Given the description of an element on the screen output the (x, y) to click on. 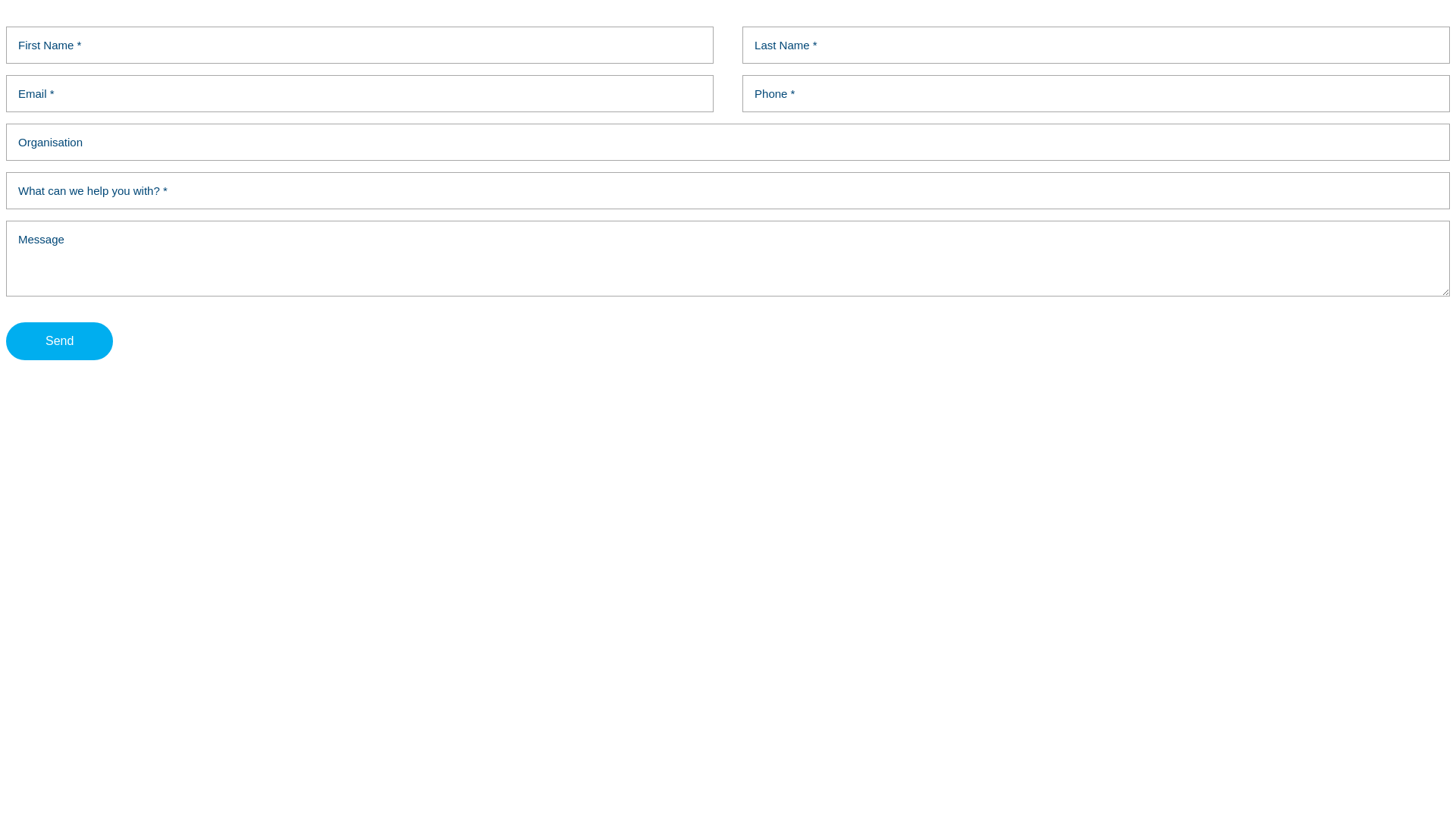
Send Element type: text (59, 341)
